Given the description of an element on the screen output the (x, y) to click on. 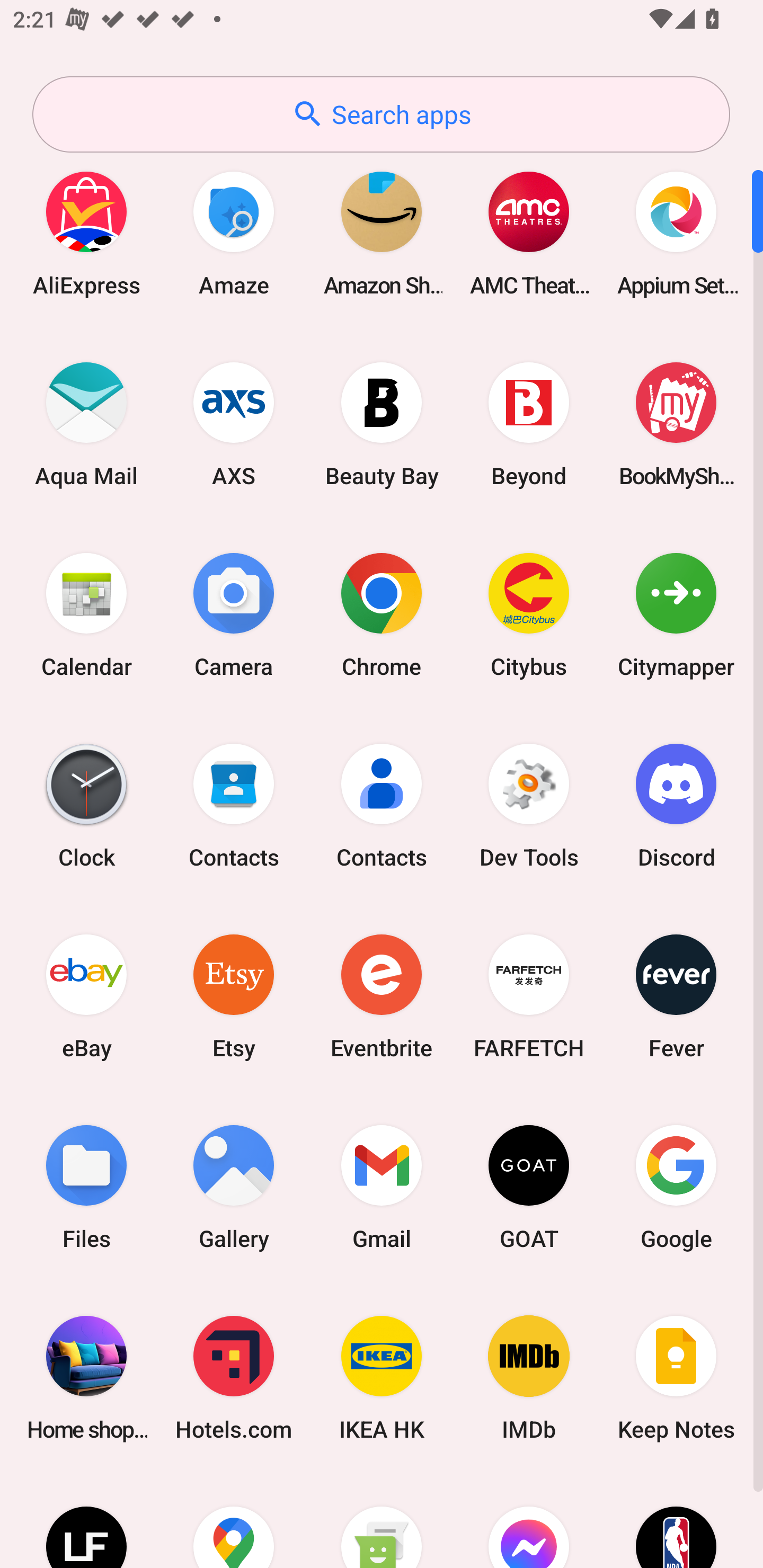
Citymapper (676, 614)
